Given the description of an element on the screen output the (x, y) to click on. 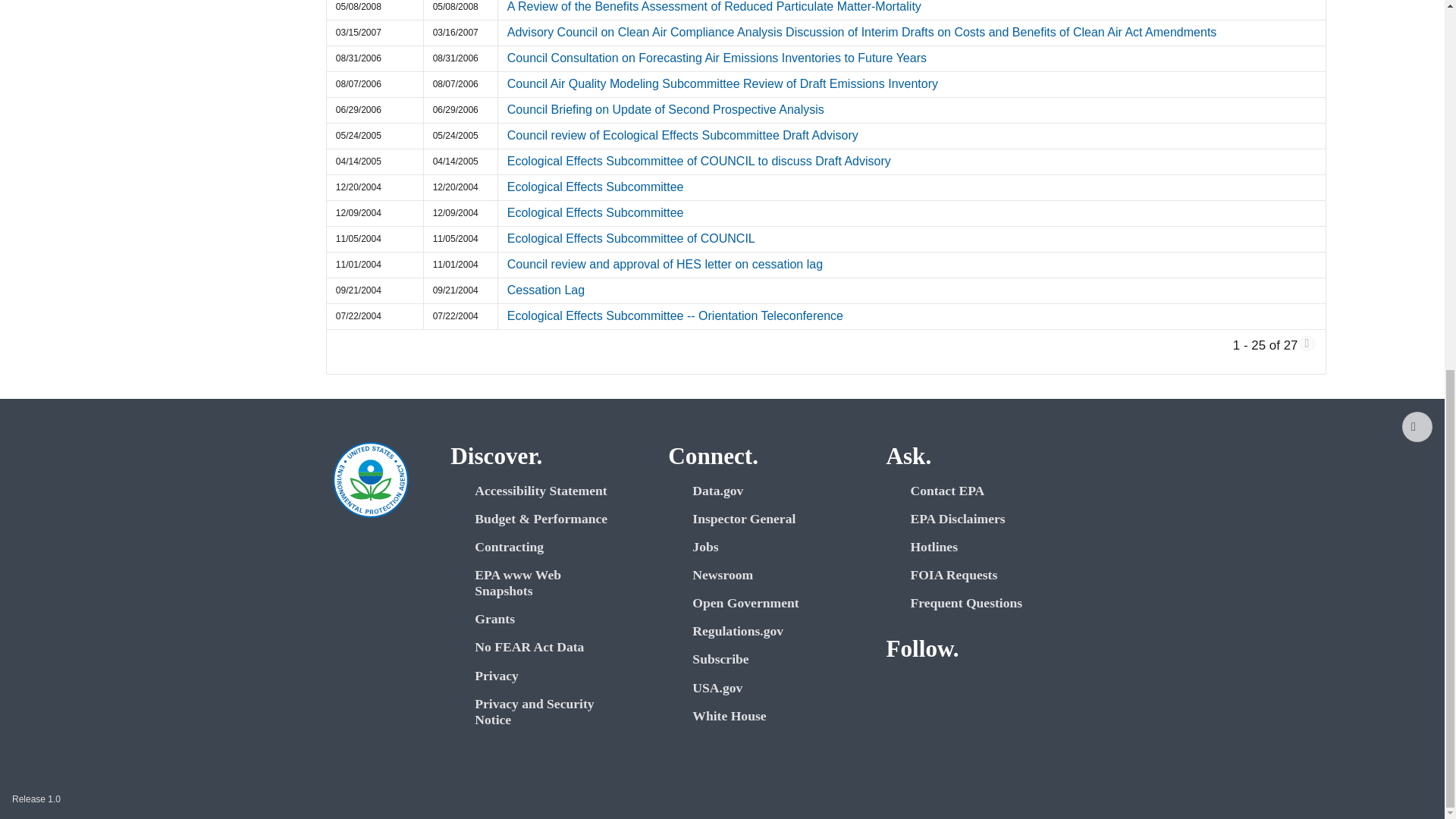
Start of page (1417, 426)
Next (1307, 343)
